Given the description of an element on the screen output the (x, y) to click on. 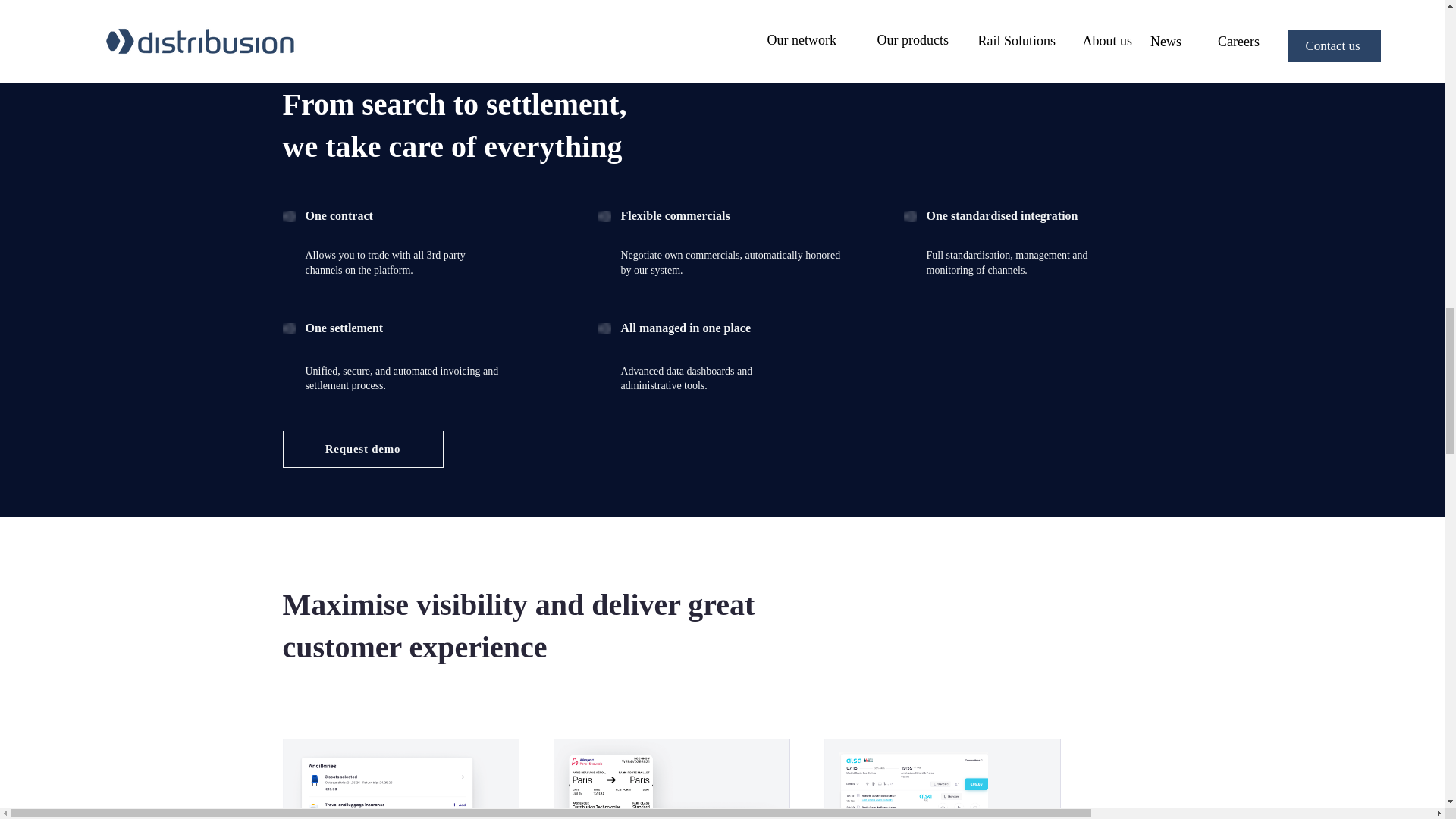
Request demo (362, 448)
